Given the description of an element on the screen output the (x, y) to click on. 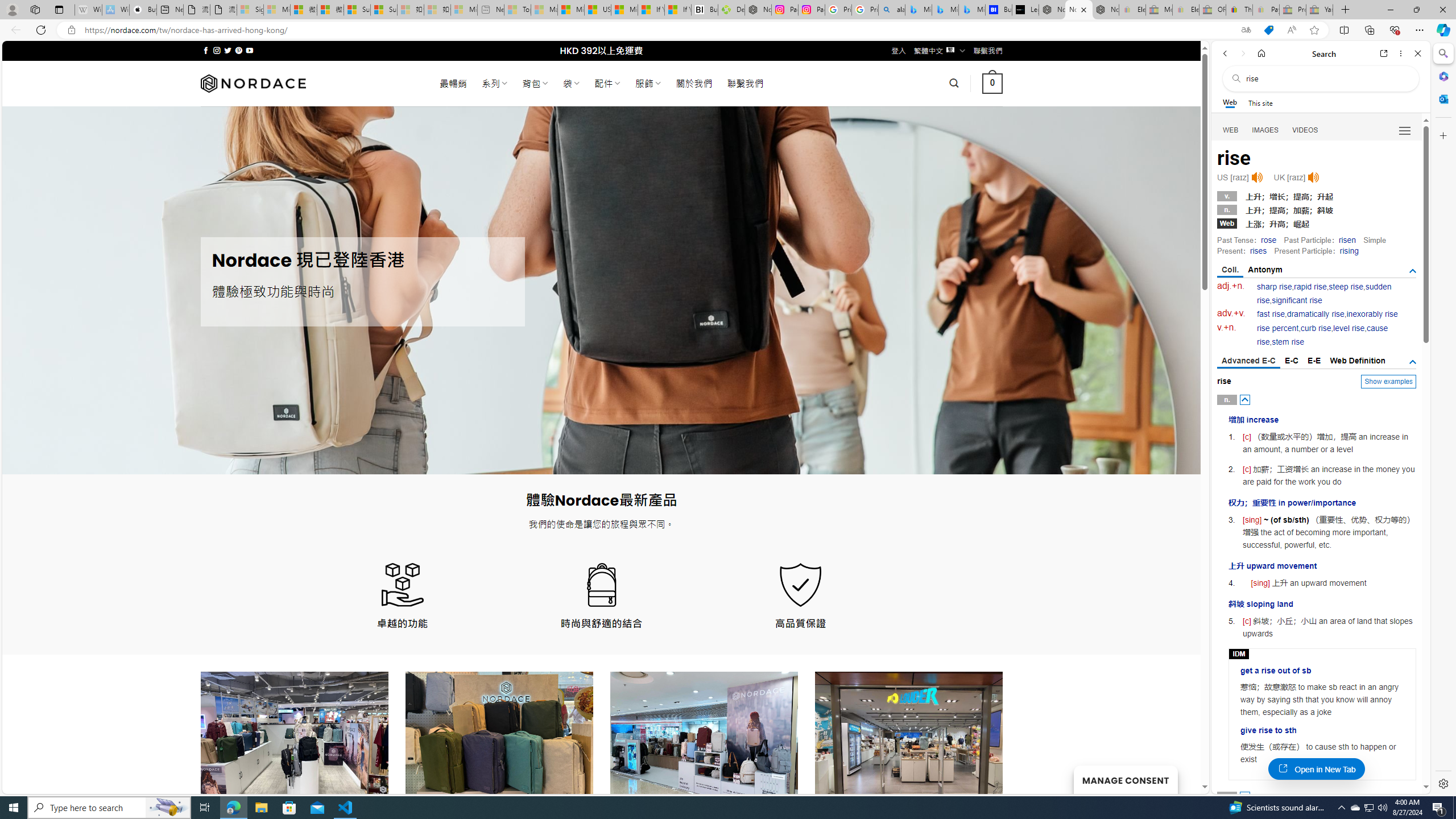
Yard, Garden & Outdoor Living - Sleeping (1319, 9)
cause rise (1322, 335)
fast rise (1270, 313)
Wikipedia - Sleeping (87, 9)
Antonym (1265, 269)
Advanced E-C (1248, 361)
  0   (992, 83)
Search the web (1326, 78)
Threats and offensive language policy | eBay (1239, 9)
